Given the description of an element on the screen output the (x, y) to click on. 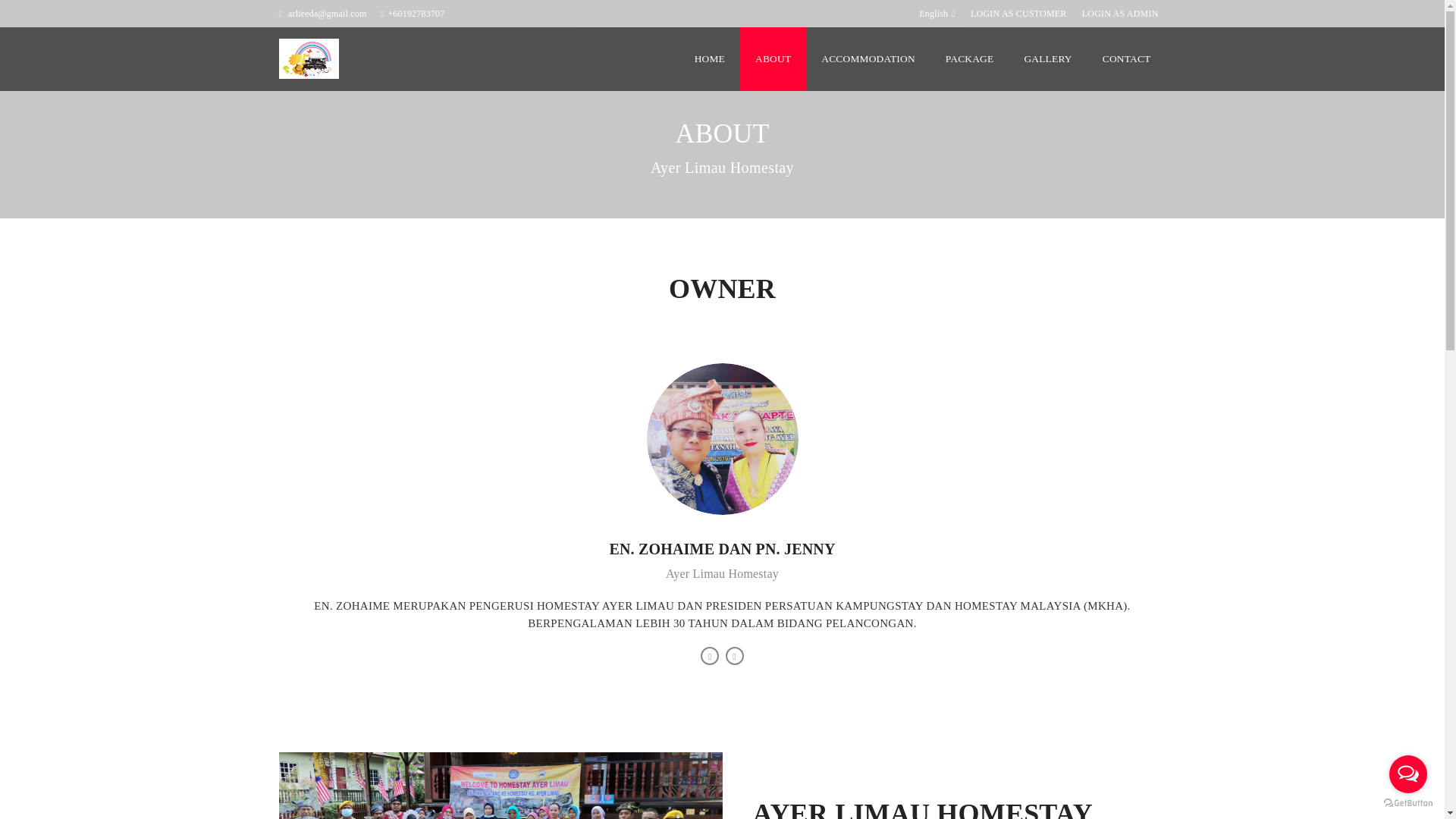
GALLERY (1047, 58)
LOGIN AS ADMIN (1120, 13)
HOME (709, 58)
LOGIN AS CUSTOMER (1018, 13)
ACCOMMODATION (868, 58)
CONTACT (1126, 58)
ABOUT (772, 58)
PACKAGE (969, 58)
